Given the description of an element on the screen output the (x, y) to click on. 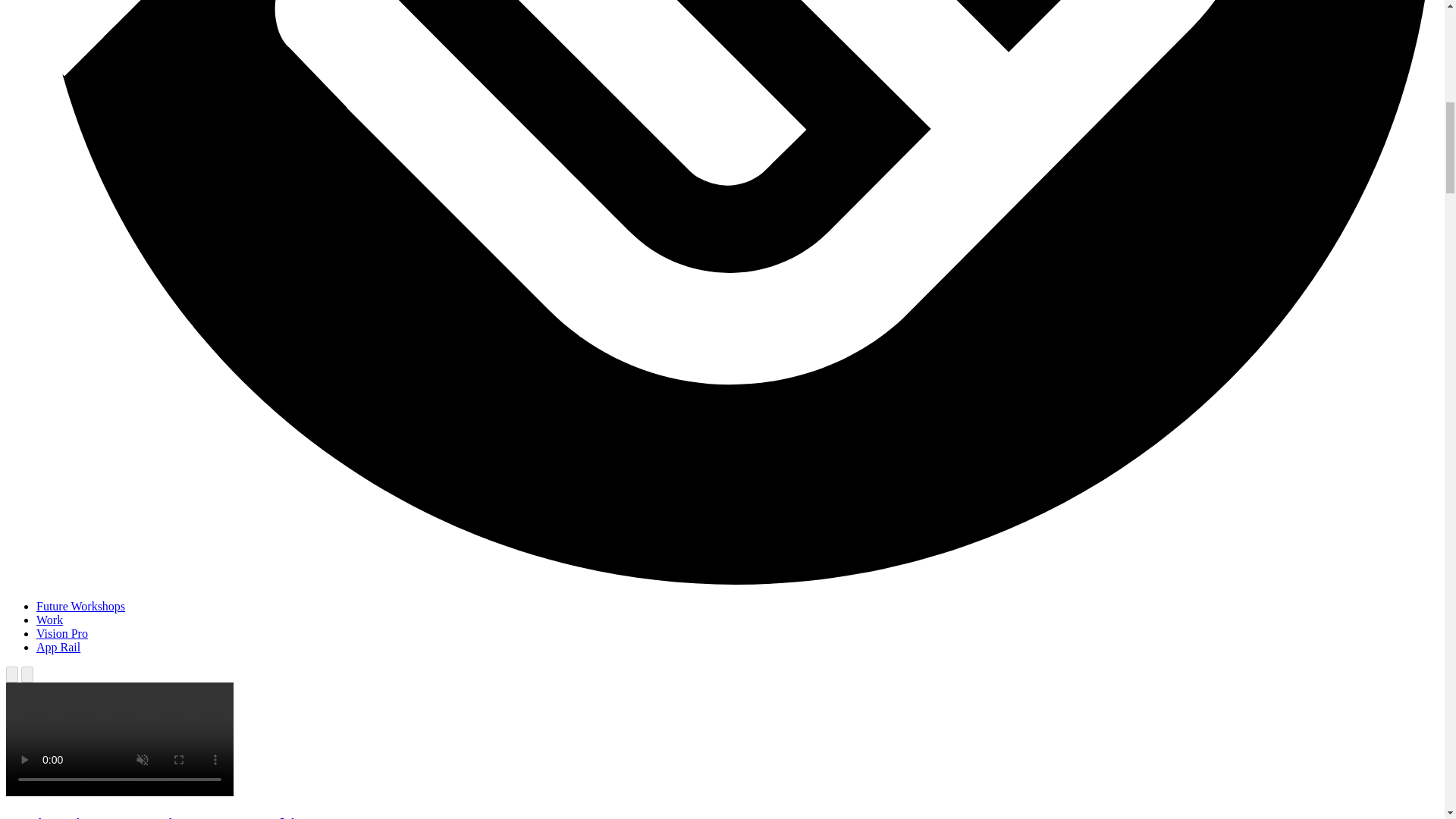
Work (49, 619)
App Rail (58, 646)
Future Workshops (80, 605)
Vision Pro (61, 633)
